Given the description of an element on the screen output the (x, y) to click on. 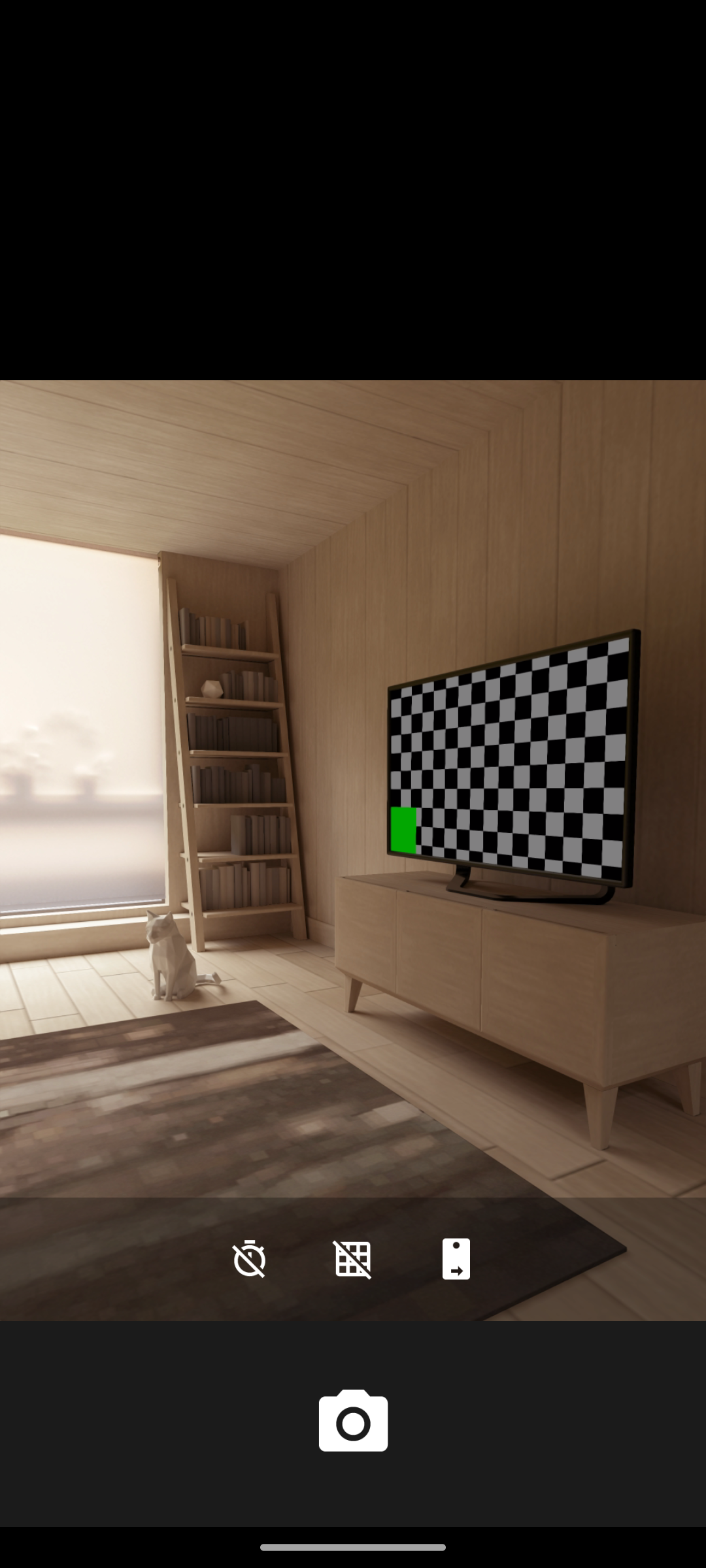
Countdown timer is off (249, 1258)
Grid lines off (352, 1258)
Back camera (456, 1258)
Shutter (353, 1423)
